Given the description of an element on the screen output the (x, y) to click on. 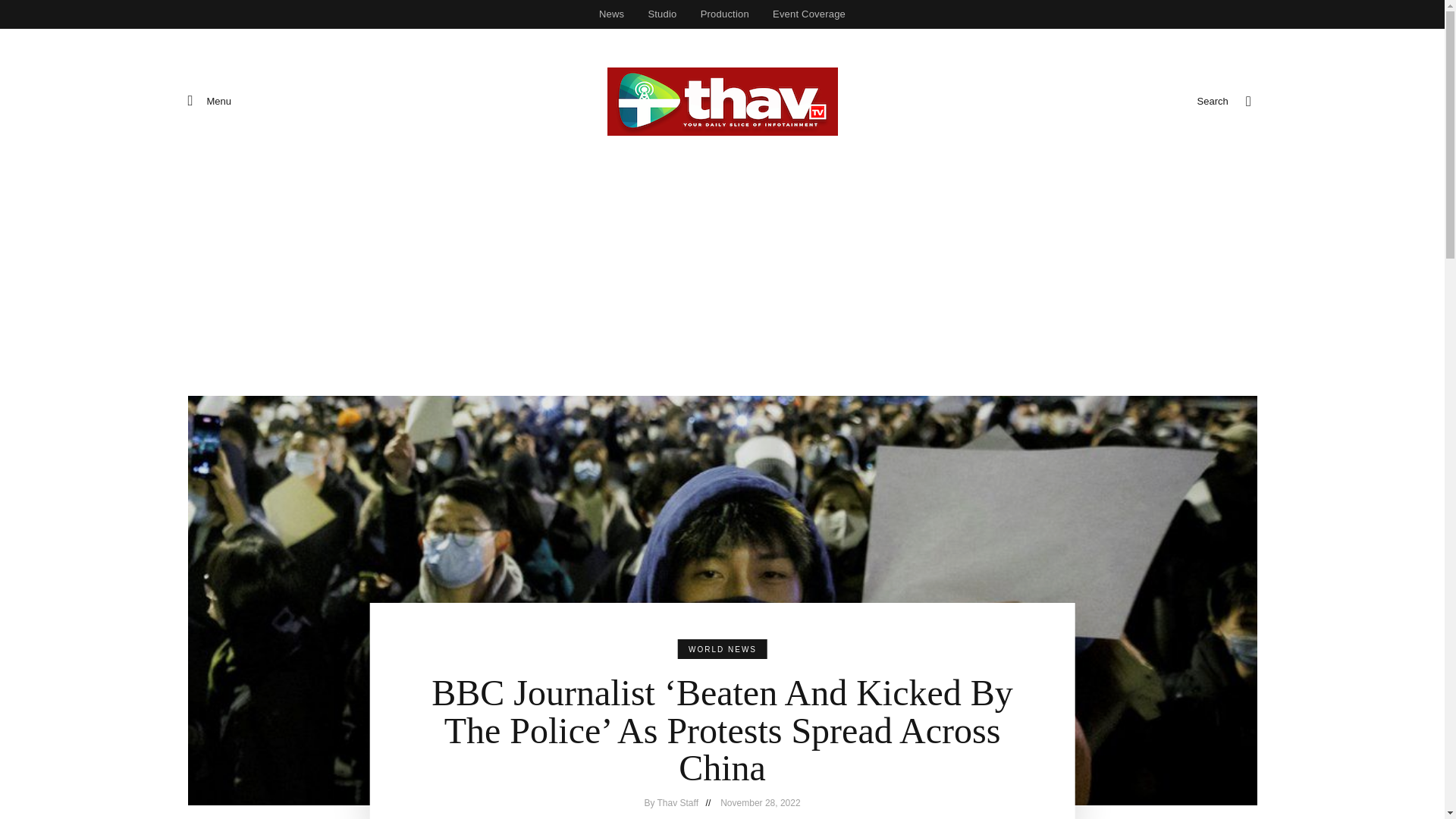
Studio (662, 14)
By Thav Staff (680, 802)
WORLD NEWS (722, 649)
Menu (209, 101)
Event Coverage (808, 14)
Production (724, 14)
News (611, 14)
